Given the description of an element on the screen output the (x, y) to click on. 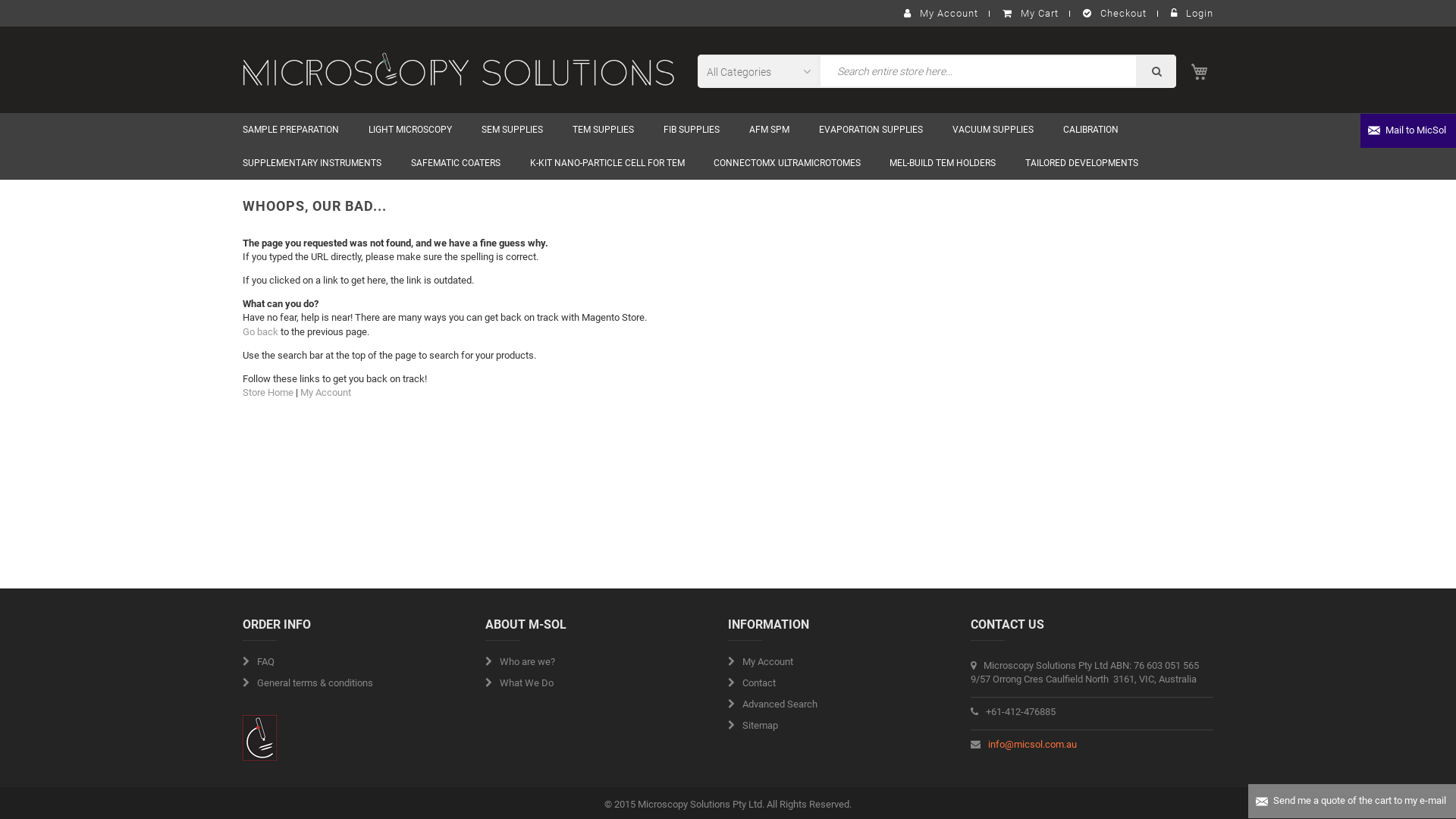
My Account Element type: text (760, 661)
Who are we? Element type: text (520, 661)
FAQ Element type: text (258, 661)
EVAPORATION SUPPLIES Element type: text (871, 129)
CALIBRATION Element type: text (1090, 129)
TAILORED DEVELOPMENTS Element type: text (1081, 162)
Advanced Search Element type: text (772, 704)
SEM SUPPLIES Element type: text (512, 129)
CONNECTOMX ULTRAMICROTOMES Element type: text (787, 162)
My Cart Element type: text (1029, 12)
FIB SUPPLIES Element type: text (691, 129)
Login Element type: text (1185, 12)
Sitemap Element type: text (753, 725)
VACUUM SUPPLIES Element type: text (993, 129)
info@micsol.com.au Element type: text (1032, 743)
Store Home Element type: text (267, 392)
SEARCH Element type: text (1156, 71)
What We Do Element type: text (519, 682)
Contact Element type: text (751, 682)
General terms & conditions Element type: text (307, 682)
MEL-BUILD TEM HOLDERS Element type: text (942, 162)
SUPPLEMENTARY INSTRUMENTS Element type: text (312, 162)
My Account Element type: text (325, 392)
MY CART Element type: text (1199, 71)
Go back Element type: text (260, 331)
SAMPLE PREPARATION Element type: text (291, 129)
Microscopy Solutions Element type: hover (458, 69)
TEM SUPPLIES Element type: text (603, 129)
My Account Element type: text (940, 12)
AFM SPM Element type: text (769, 129)
LIGHT MICROSCOPY Element type: text (410, 129)
Checkout Element type: text (1113, 12)
K-KIT NANO-PARTICLE CELL FOR TEM Element type: text (607, 162)
SAFEMATIC COATERS Element type: text (455, 162)
